Given the description of an element on the screen output the (x, y) to click on. 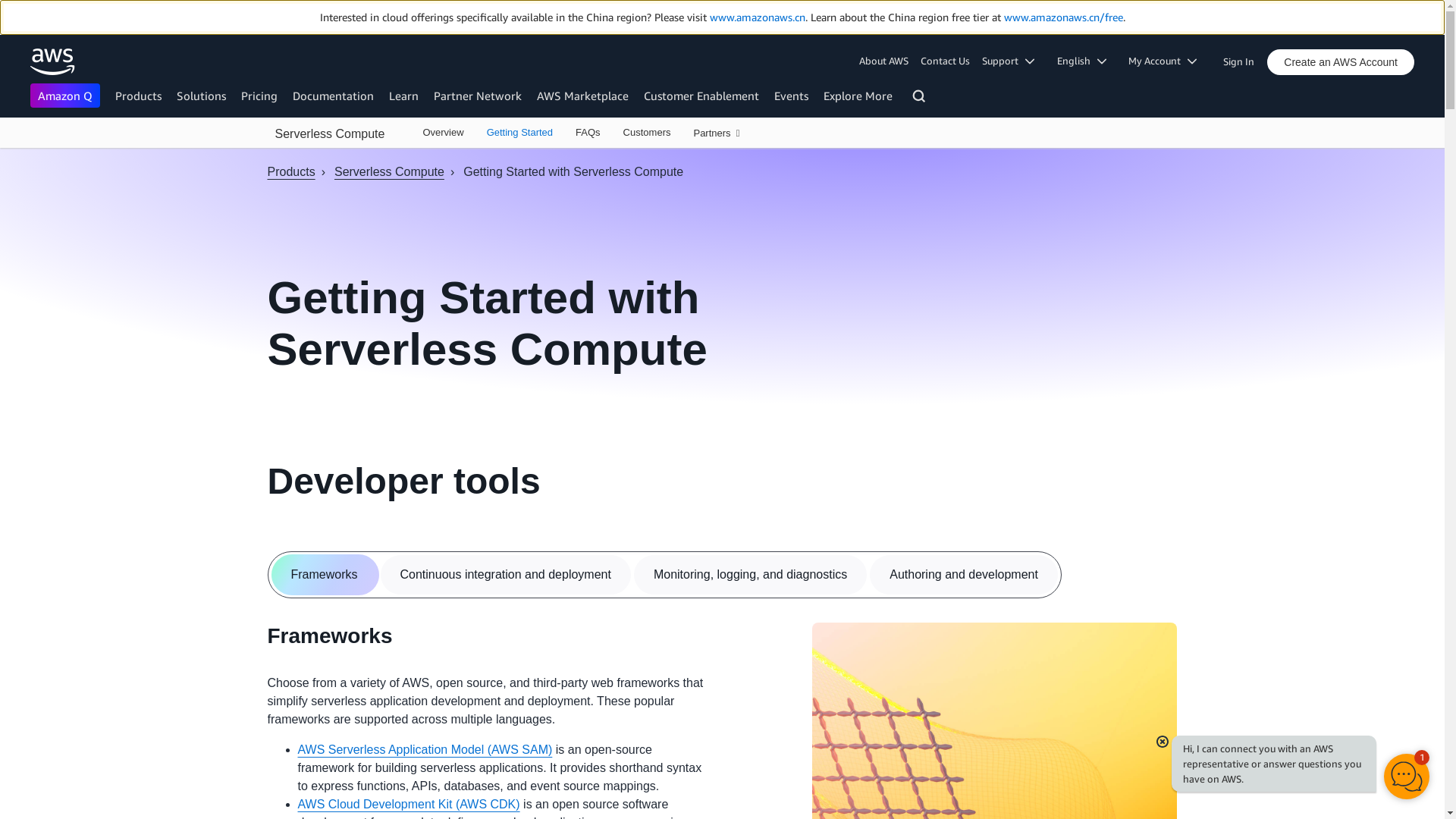
Customer Enablement (700, 95)
Sign In (1243, 58)
www.amazonaws.cn (757, 16)
Pricing (259, 95)
Contact Us (944, 60)
Support   (1013, 60)
Solutions (200, 95)
Learn (403, 95)
AWS Marketplace (582, 95)
Documentation (333, 95)
My Account   (1167, 60)
Products (138, 95)
Amazon Q (65, 95)
Click here to return to Amazon Web Services homepage (52, 61)
Skip to main content (7, 154)
